Given the description of an element on the screen output the (x, y) to click on. 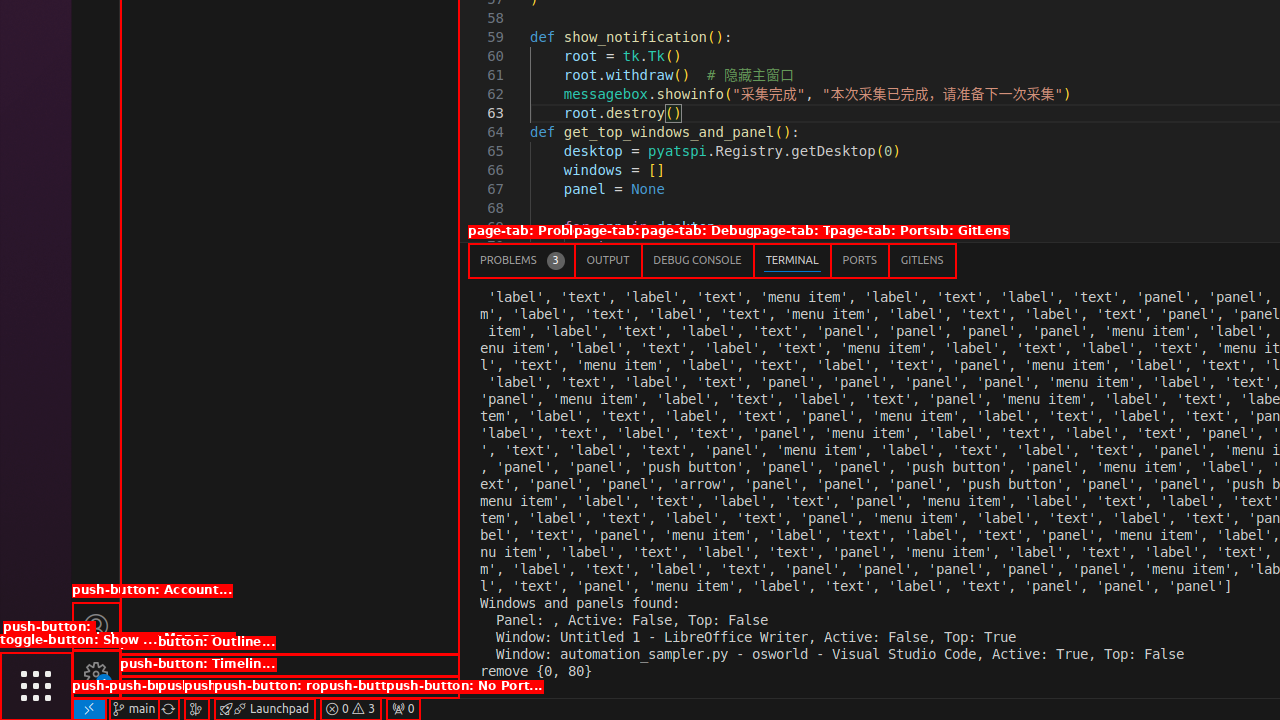
Ports Element type: page-tab (859, 260)
Timeline Section Element type: push-button (289, 687)
Output (Ctrl+K Ctrl+H) Element type: page-tab (608, 260)
No Ports Forwarded Element type: push-button (403, 709)
